Given the description of an element on the screen output the (x, y) to click on. 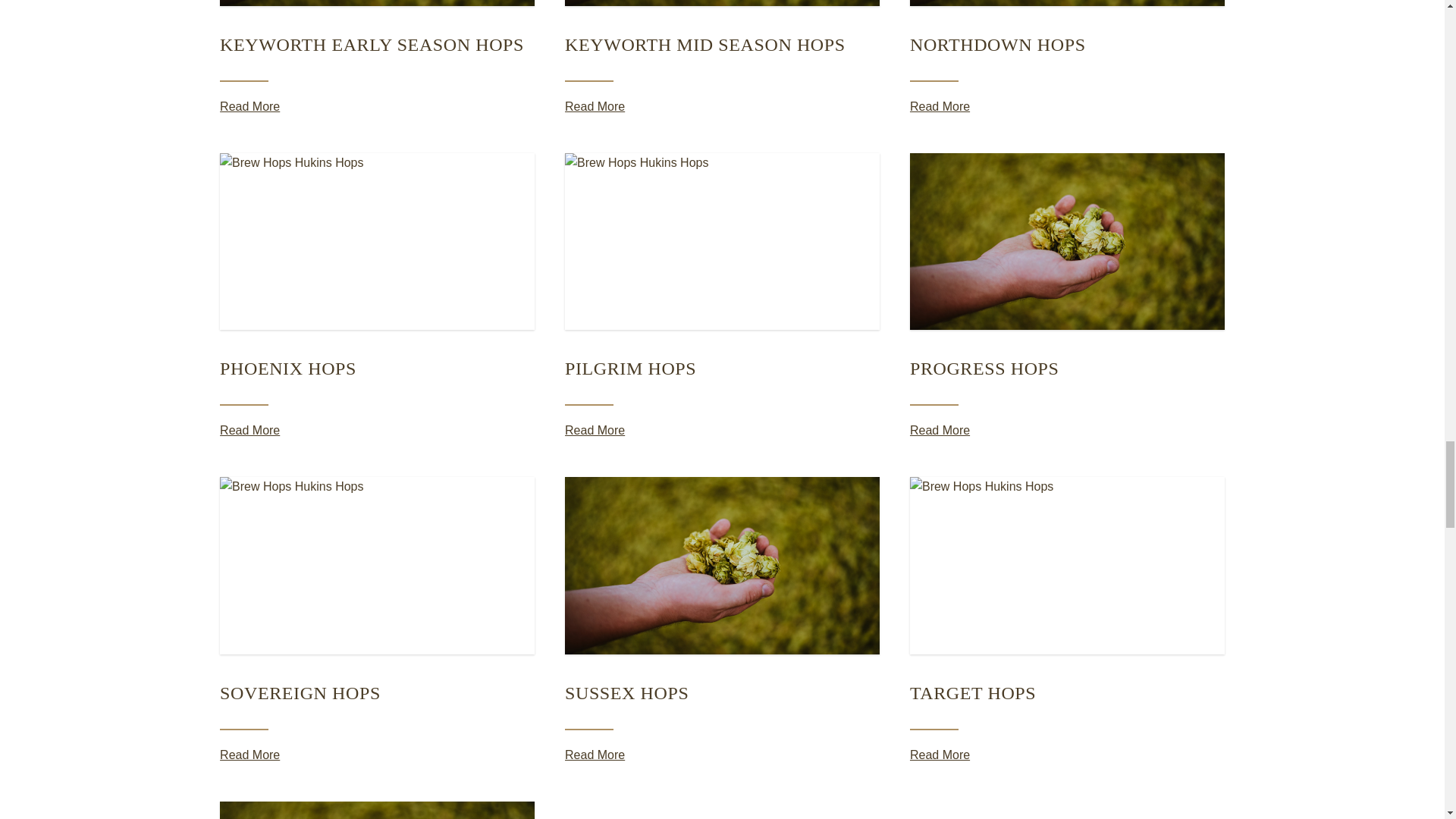
Brew Hops Hukins Hops (376, 241)
Brew Hops Hukins Hops (721, 2)
Brew Hops Hukins Hops (1067, 2)
Brew Hops Hukins Hops (1067, 241)
Brew Hops Hukins Hops (376, 2)
Brew Hops Hukins Hops (721, 241)
Brew Hops Hukins Hops (376, 564)
